Given the description of an element on the screen output the (x, y) to click on. 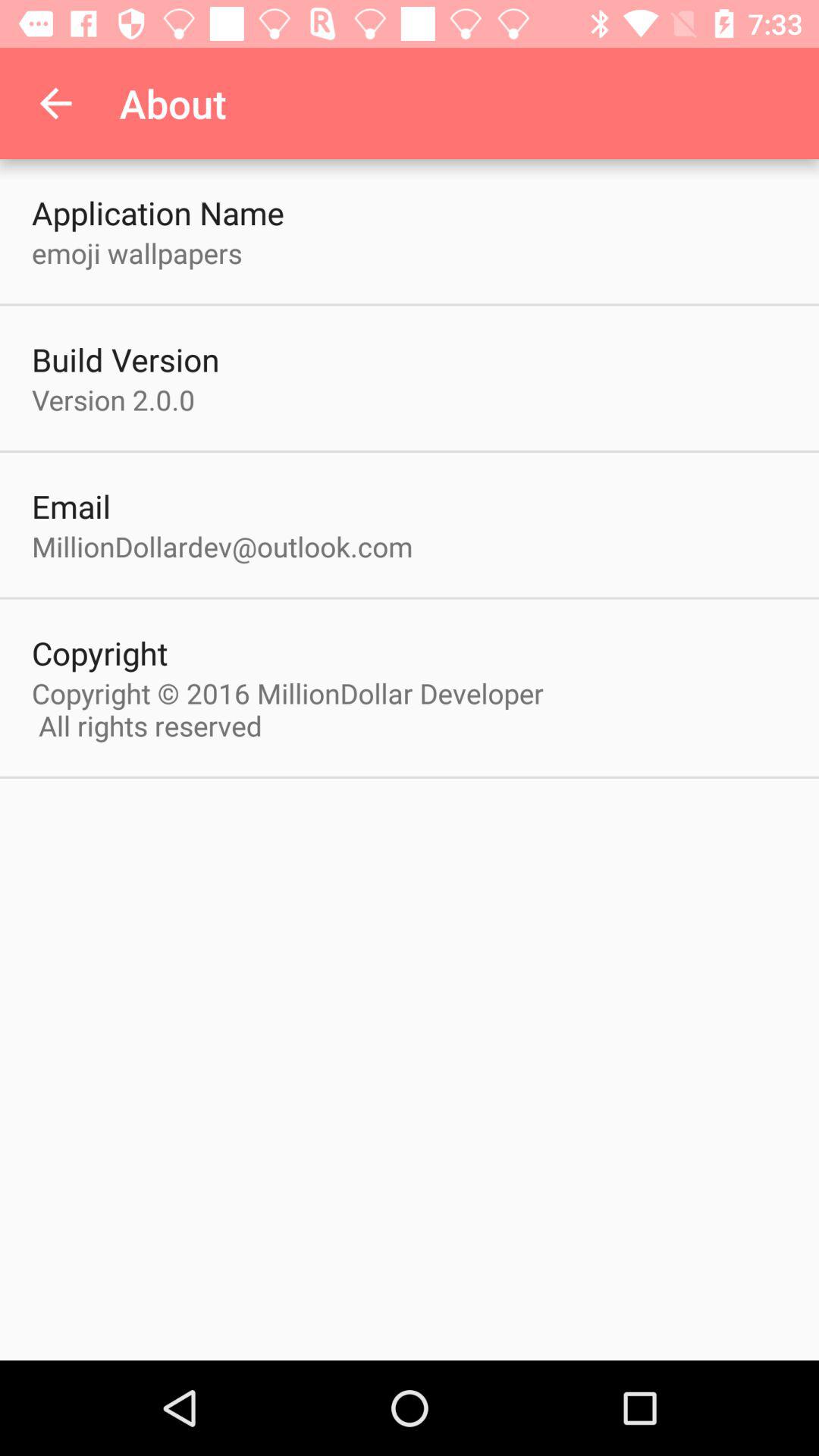
jump until the version 2 0 icon (113, 399)
